Given the description of an element on the screen output the (x, y) to click on. 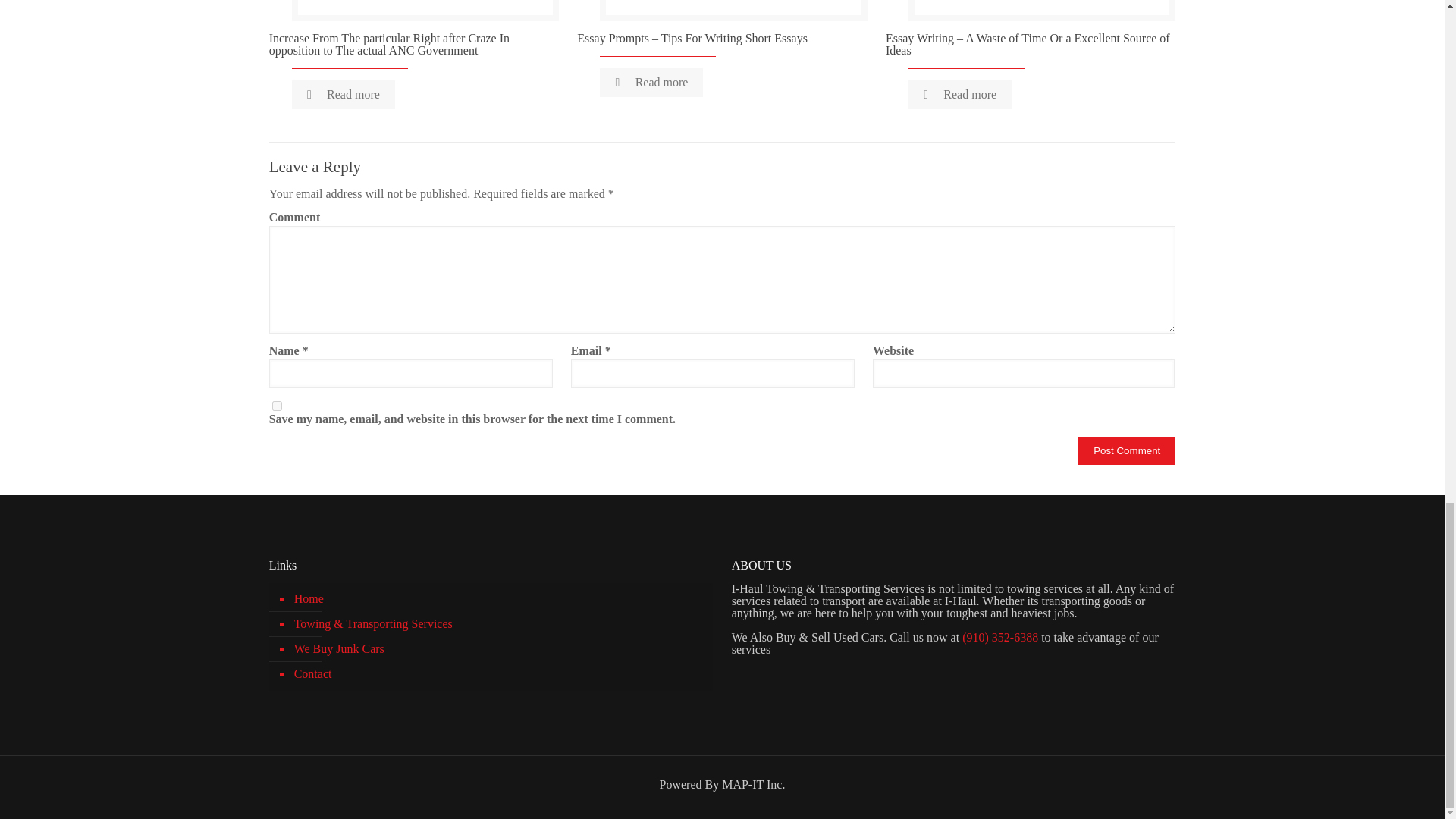
Read more (959, 94)
Contact (499, 674)
Post Comment (1126, 450)
Read more (343, 94)
We Buy Junk Cars (499, 649)
Read more (651, 82)
Home (499, 599)
yes (277, 406)
Post Comment (1126, 450)
